Given the description of an element on the screen output the (x, y) to click on. 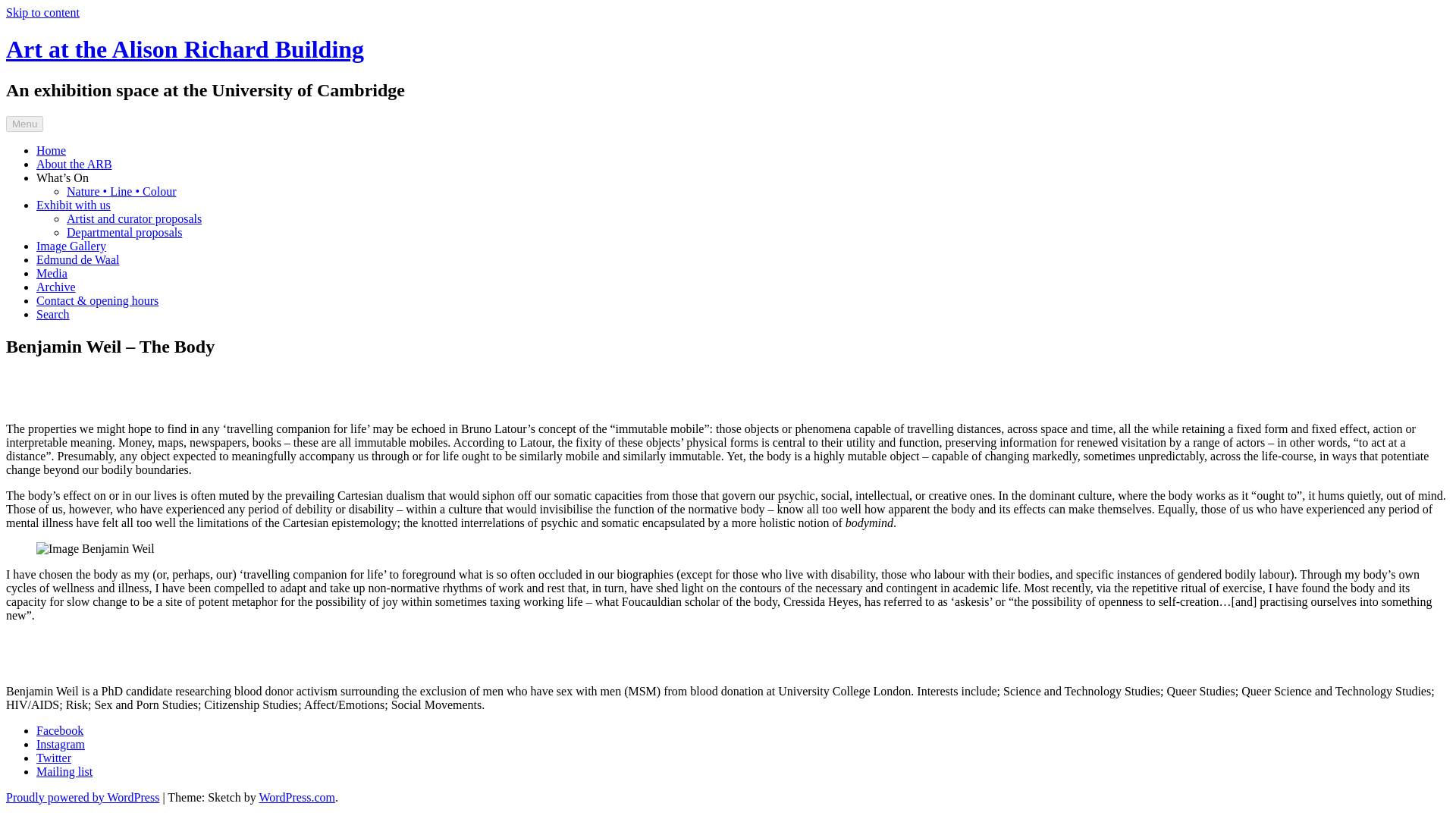
Facebook (59, 730)
Art at the Alison Richard Building (184, 49)
Search (52, 314)
Exhibit with us (73, 205)
Instagram (60, 744)
Media (51, 273)
Edmund de Waal (77, 259)
Skip to content (42, 11)
Archive (55, 286)
Departmental proposals (124, 232)
